Given the description of an element on the screen output the (x, y) to click on. 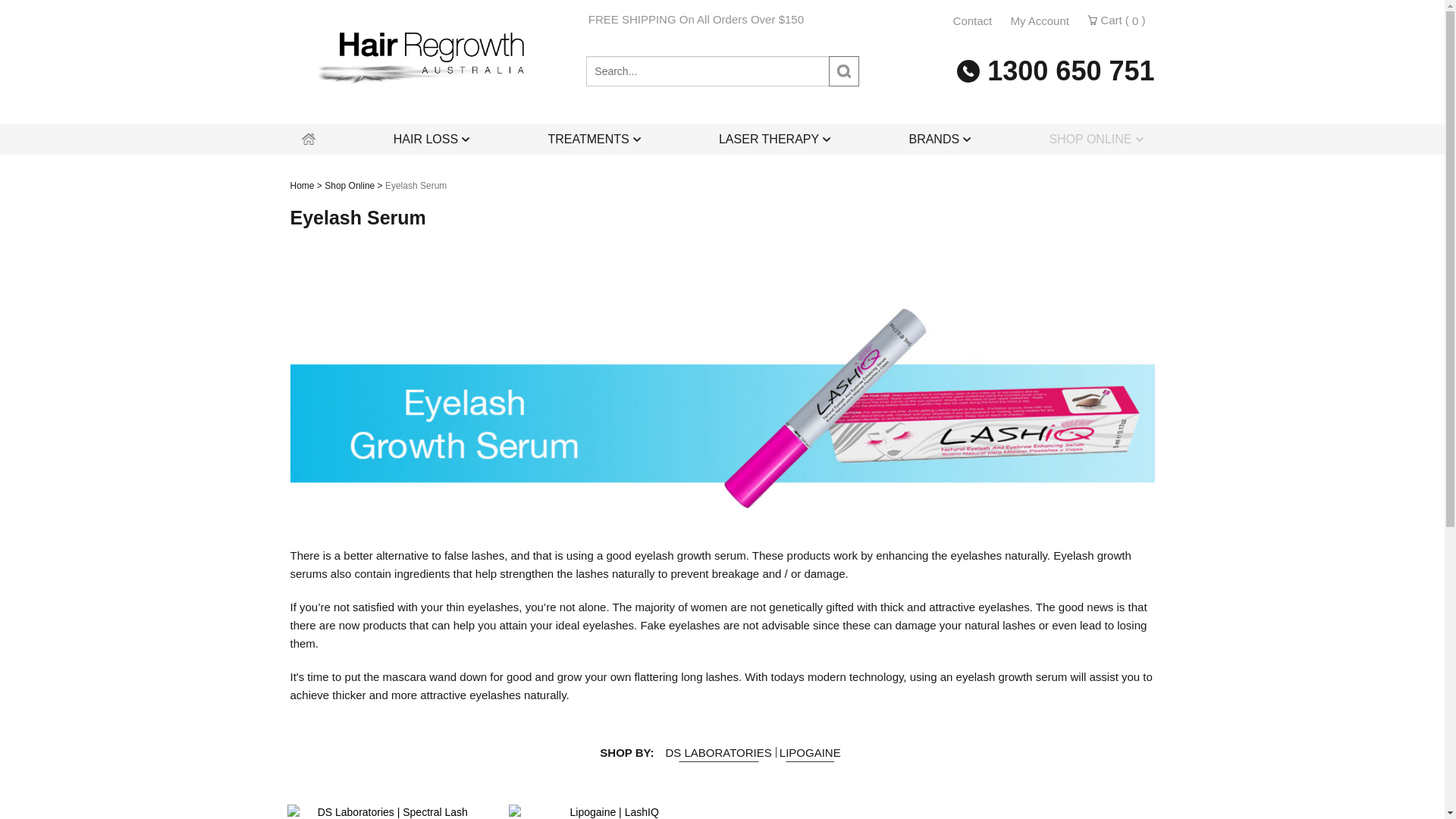
1300 650 751 Element type: text (1055, 69)
SHOP ONLINE Element type: text (1095, 139)
Contact Element type: text (972, 20)
FREE SHIPPING On All Orders Over $150 Element type: text (546, 19)
Shop Online Element type: text (349, 185)
BRANDS Element type: text (939, 139)
www.hairregrowthaustralia.com.au Element type: hover (430, 64)
HAIR LOSS Element type: text (431, 139)
Eyelash Serum Element type: text (415, 185)
Cart ( 0 ) Element type: text (1116, 19)
TREATMENTS Element type: text (593, 139)
Home Element type: text (301, 185)
LASER THERAPY Element type: text (774, 139)
